Given the description of an element on the screen output the (x, y) to click on. 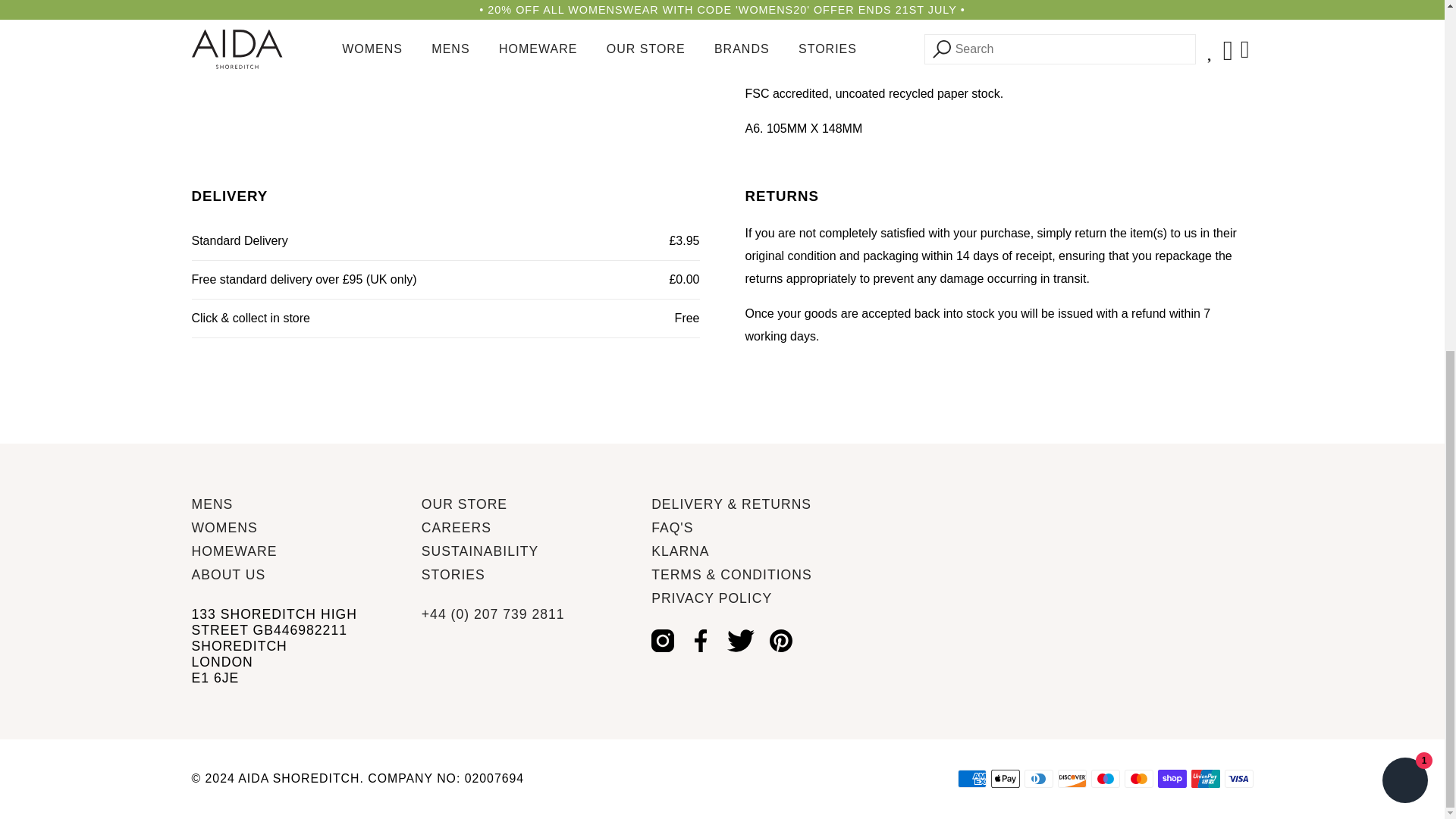
Shopify online store chat (1404, 171)
APPLE PAY (1004, 778)
DISCOVER (1071, 778)
DINERS CLUB (1037, 778)
VISA (1238, 778)
AMERICAN EXPRESS (970, 778)
UNION PAY (1205, 778)
MASTERCARD (1138, 778)
SHOP PAY (1171, 778)
MAESTRO (1104, 778)
